Given the description of an element on the screen output the (x, y) to click on. 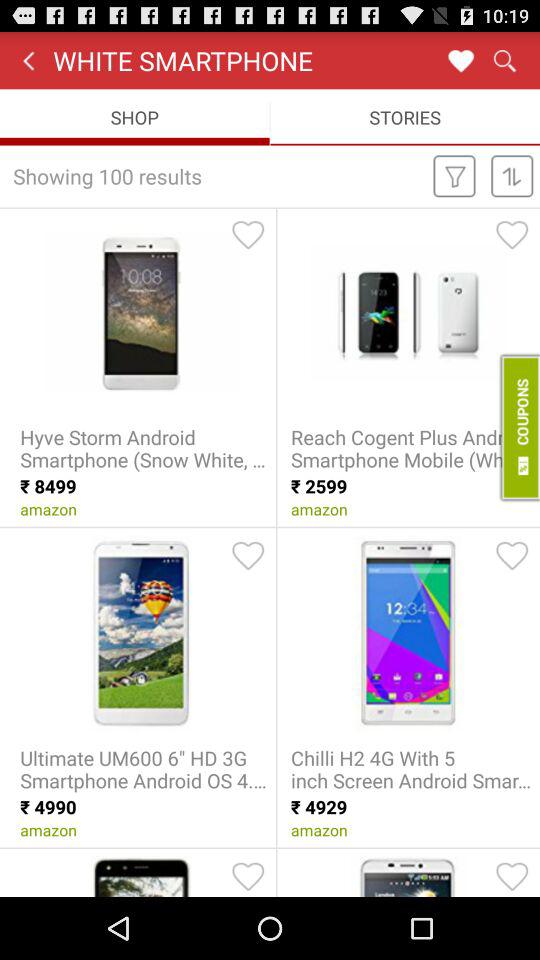
like item (512, 234)
